Given the description of an element on the screen output the (x, y) to click on. 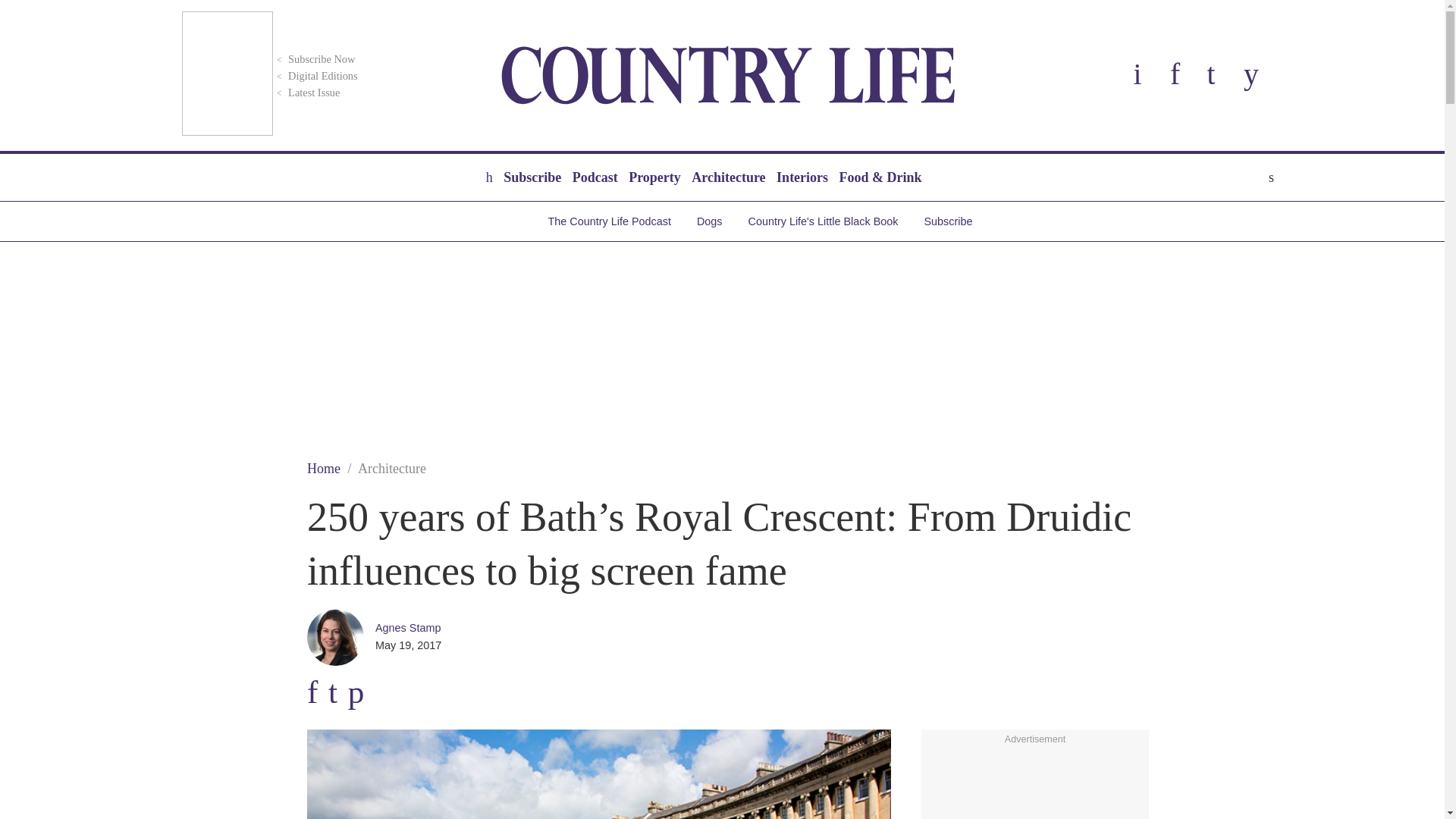
Subscribe Now (314, 59)
Digital Editions (315, 75)
Architecture (727, 176)
Property (654, 176)
Subscribe (531, 176)
Country Life (727, 74)
Interiors (802, 176)
Podcast (595, 176)
Latest Issue (306, 92)
